Given the description of an element on the screen output the (x, y) to click on. 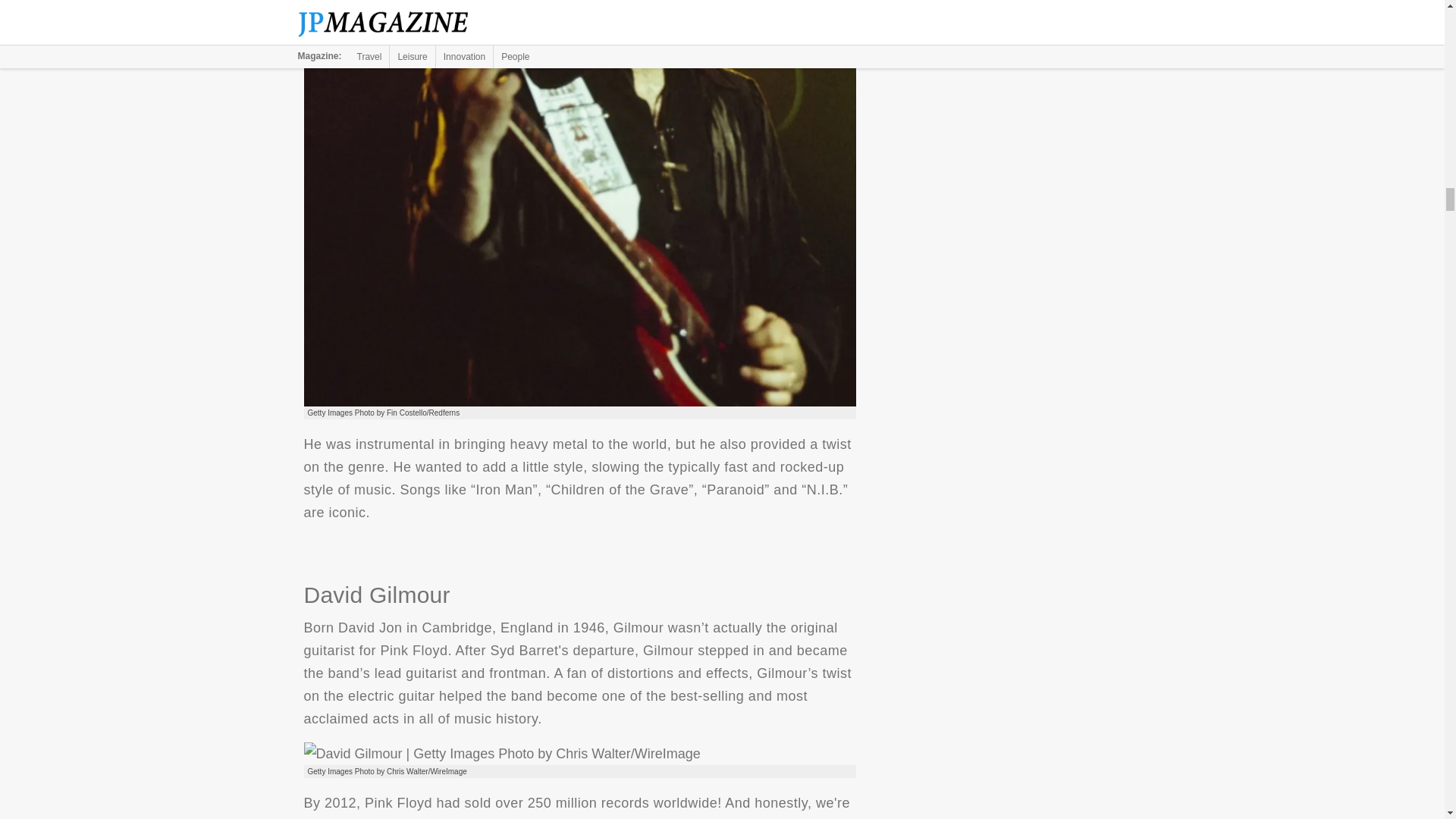
David Gilmour (501, 753)
